Given the description of an element on the screen output the (x, y) to click on. 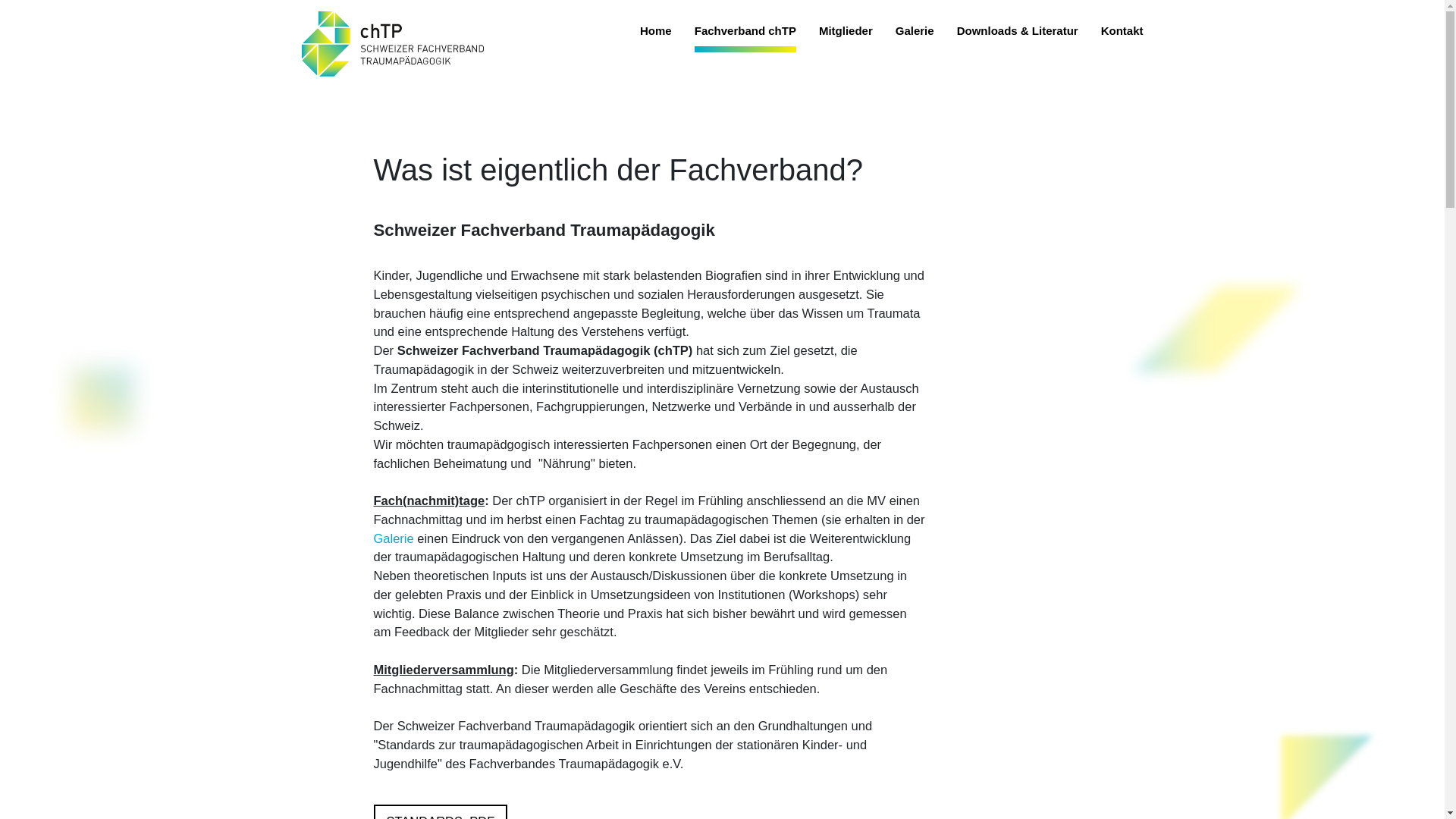
Home Element type: text (655, 37)
Fachverband chTP Element type: text (745, 37)
Mitglieder Element type: text (845, 37)
Kontakt Element type: text (1122, 37)
Downloads & Literatur Element type: text (1017, 37)
Galerie Element type: text (395, 538)
Galerie Element type: text (914, 37)
